Given the description of an element on the screen output the (x, y) to click on. 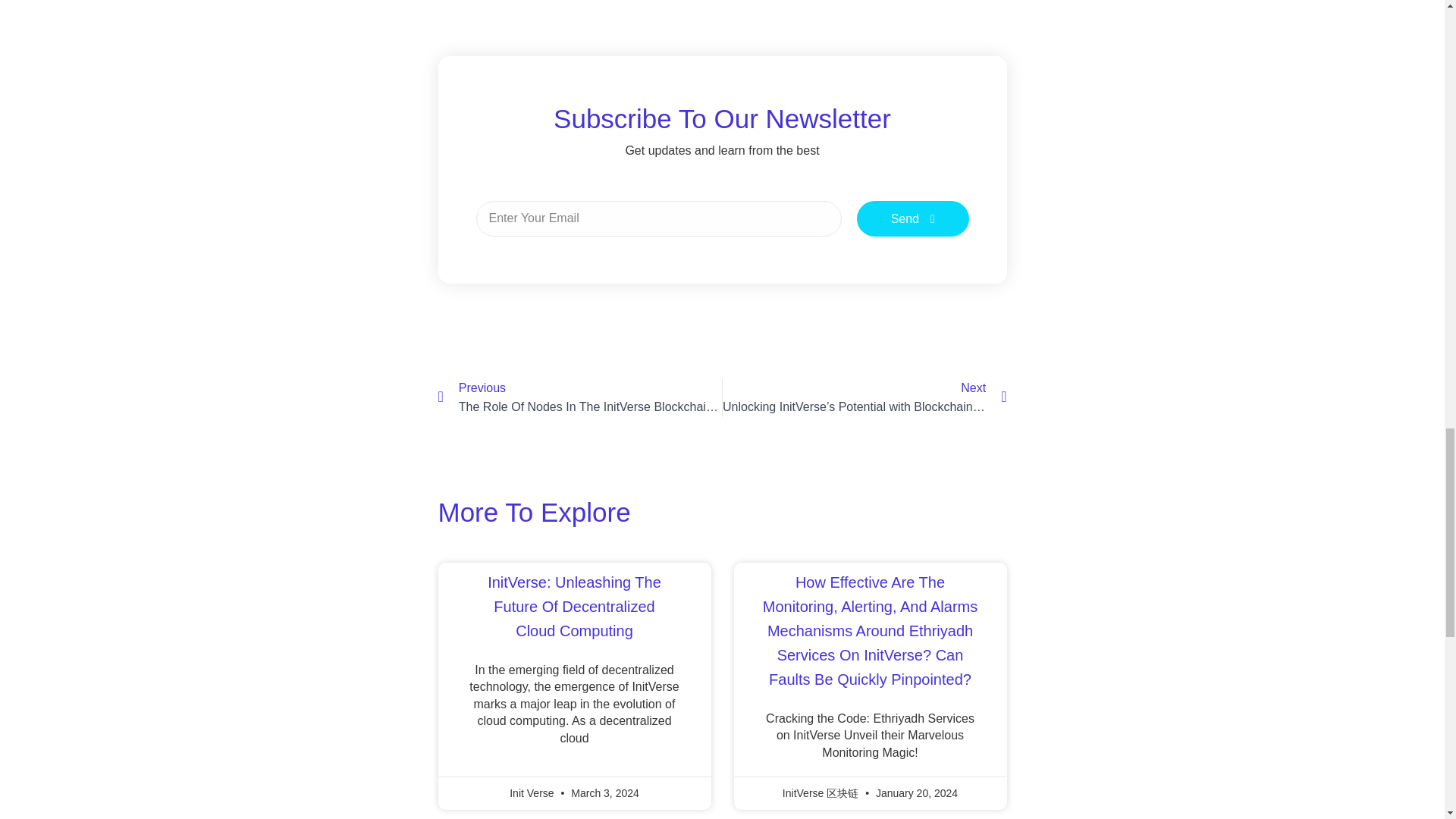
Send (913, 218)
